Given the description of an element on the screen output the (x, y) to click on. 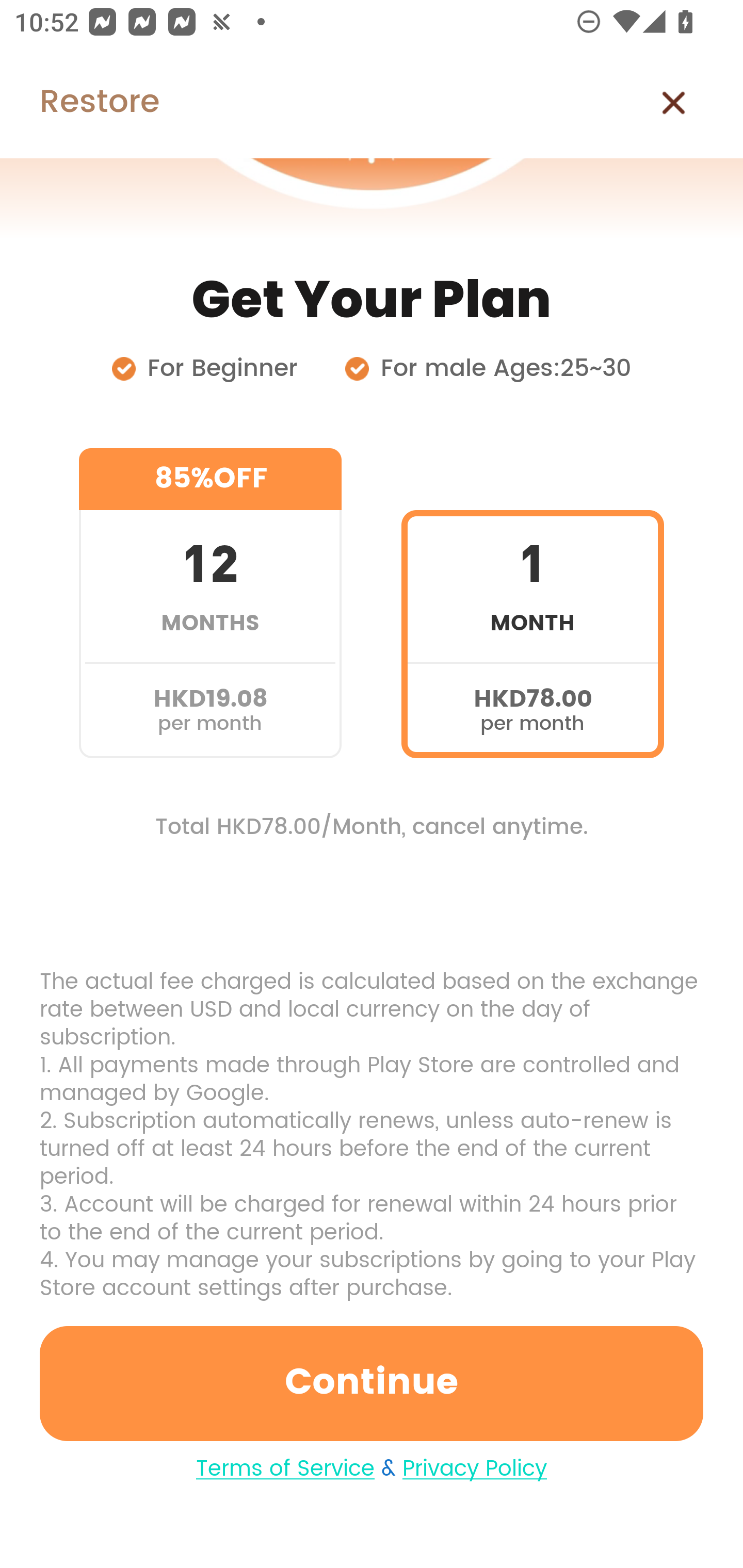
Restore (79, 102)
85%OFF 12 MONTHS per month HKD19.08 (209, 603)
1 MONTH per month HKD78.00 (532, 603)
Continue (371, 1383)
